Given the description of an element on the screen output the (x, y) to click on. 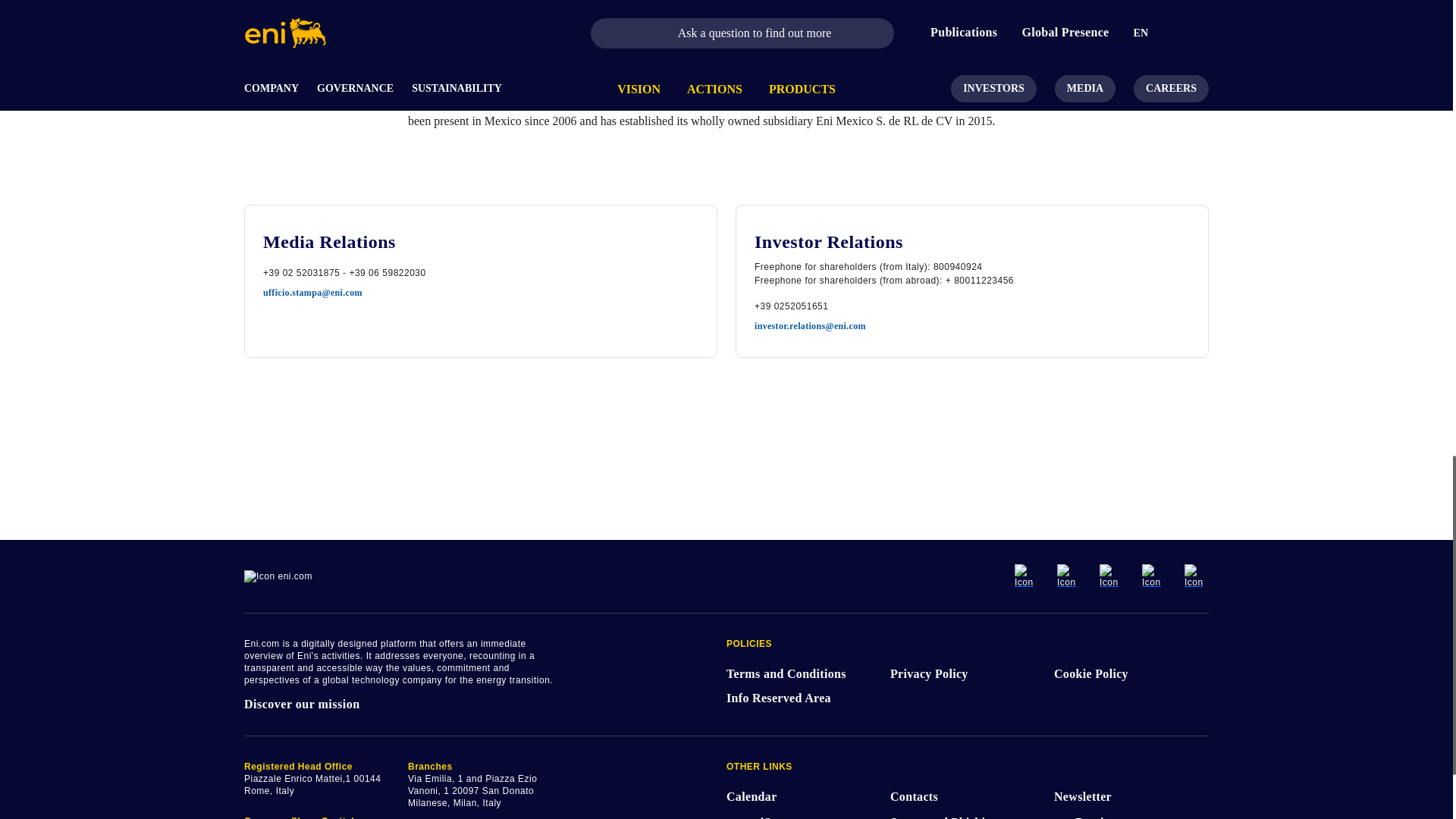
Link  (1196, 576)
Link  (1026, 576)
Link  (1153, 576)
Link  (1069, 576)
Link  (1111, 576)
